Given the description of an element on the screen output the (x, y) to click on. 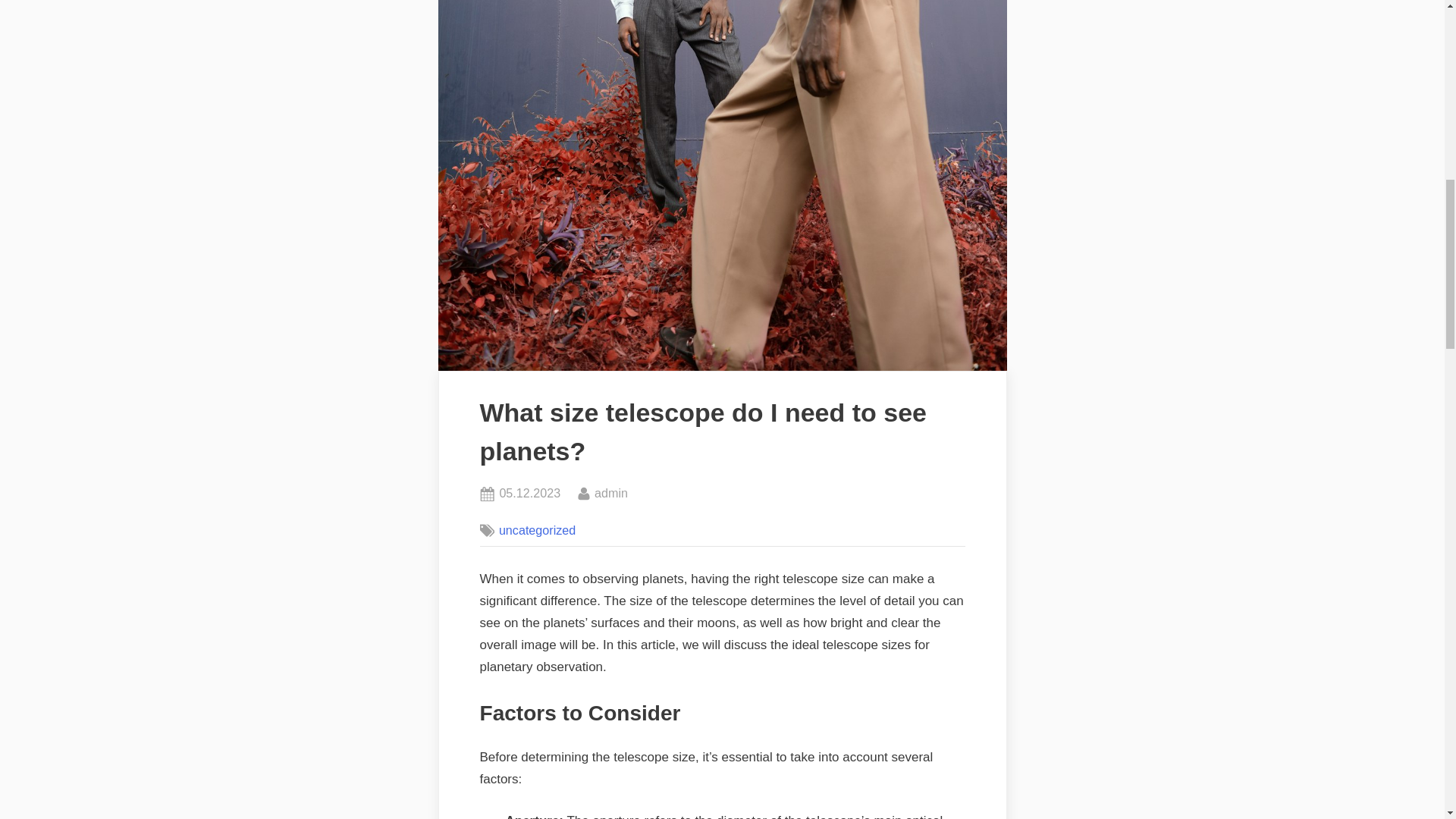
uncategorized (610, 493)
What size telescope do I need to see planets? (529, 493)
